Given the description of an element on the screen output the (x, y) to click on. 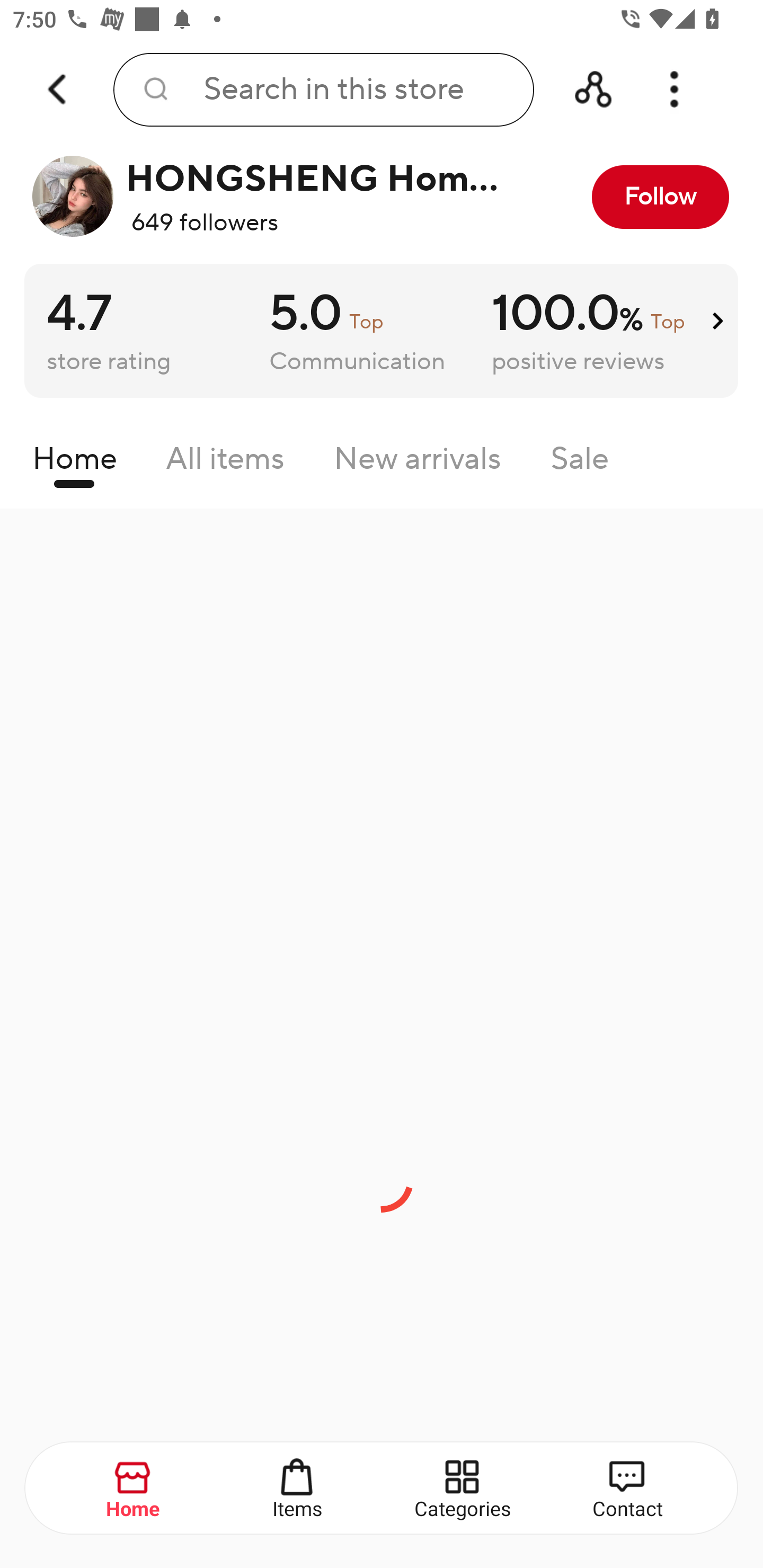
Search in this store (323, 90)
HONGSHENG Hom…  649 followers (272, 196)
Follow (660, 196)
Home (74, 463)
All items (225, 463)
New arrivals
 (418, 463)
Sale (579, 463)
Home (133, 1488)
Items (297, 1488)
Categories (462, 1488)
Contact (627, 1488)
